Given the description of an element on the screen output the (x, y) to click on. 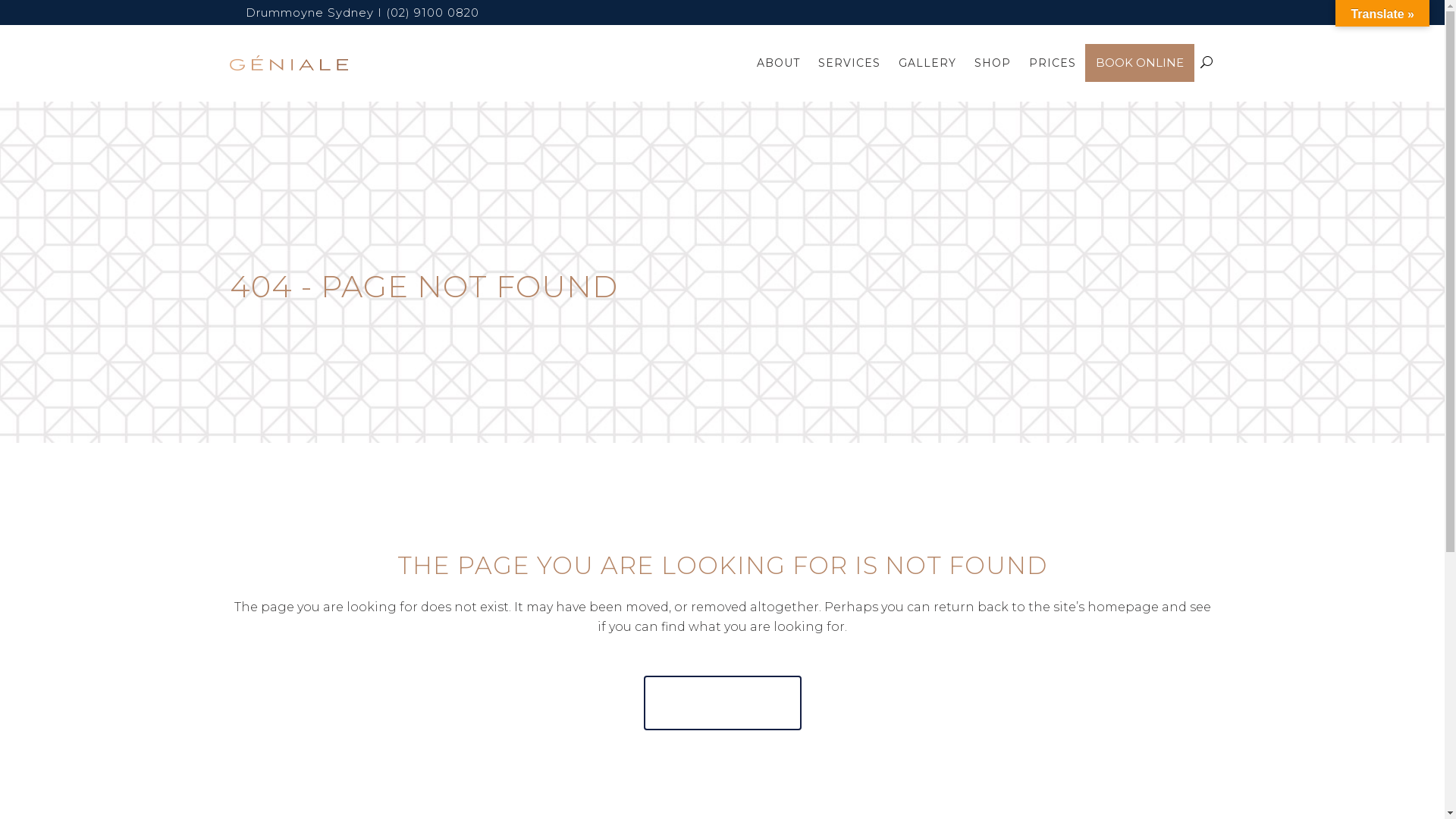
ABOUT Element type: text (778, 62)
Back To Homepage Element type: text (721, 702)
PRICES Element type: text (1051, 62)
SERVICES Element type: text (848, 62)
GALLERY Element type: text (926, 62)
SHOP Element type: text (991, 62)
